Given the description of an element on the screen output the (x, y) to click on. 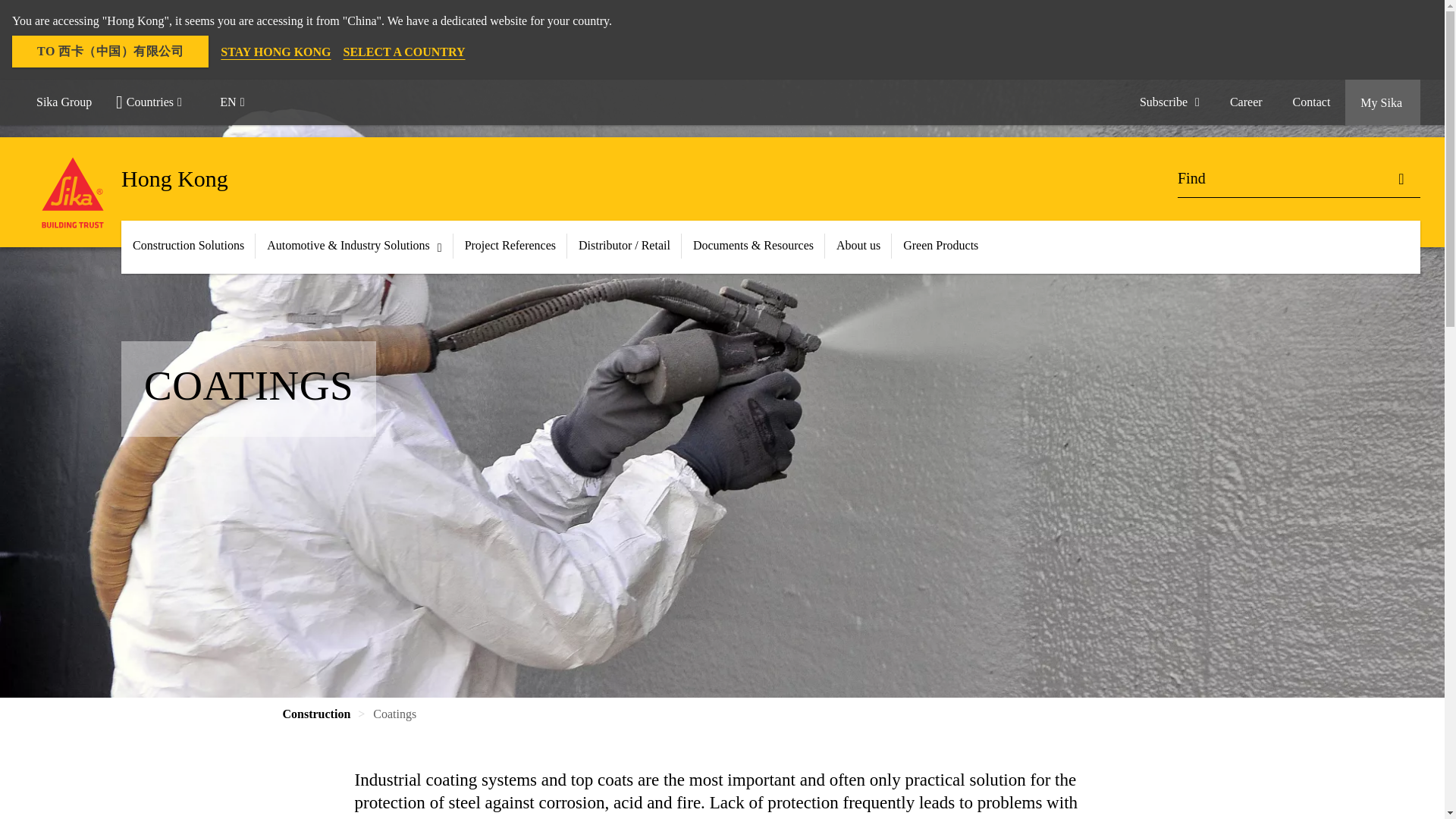
My Sika  (1383, 102)
Subscribe (1169, 102)
Countries (155, 102)
SELECT A COUNTRY (404, 51)
STAY HONG KONG (275, 51)
Sika Logo (72, 192)
Sika Group (63, 102)
EN (238, 102)
Contact (1311, 102)
Career (1246, 102)
